Given the description of an element on the screen output the (x, y) to click on. 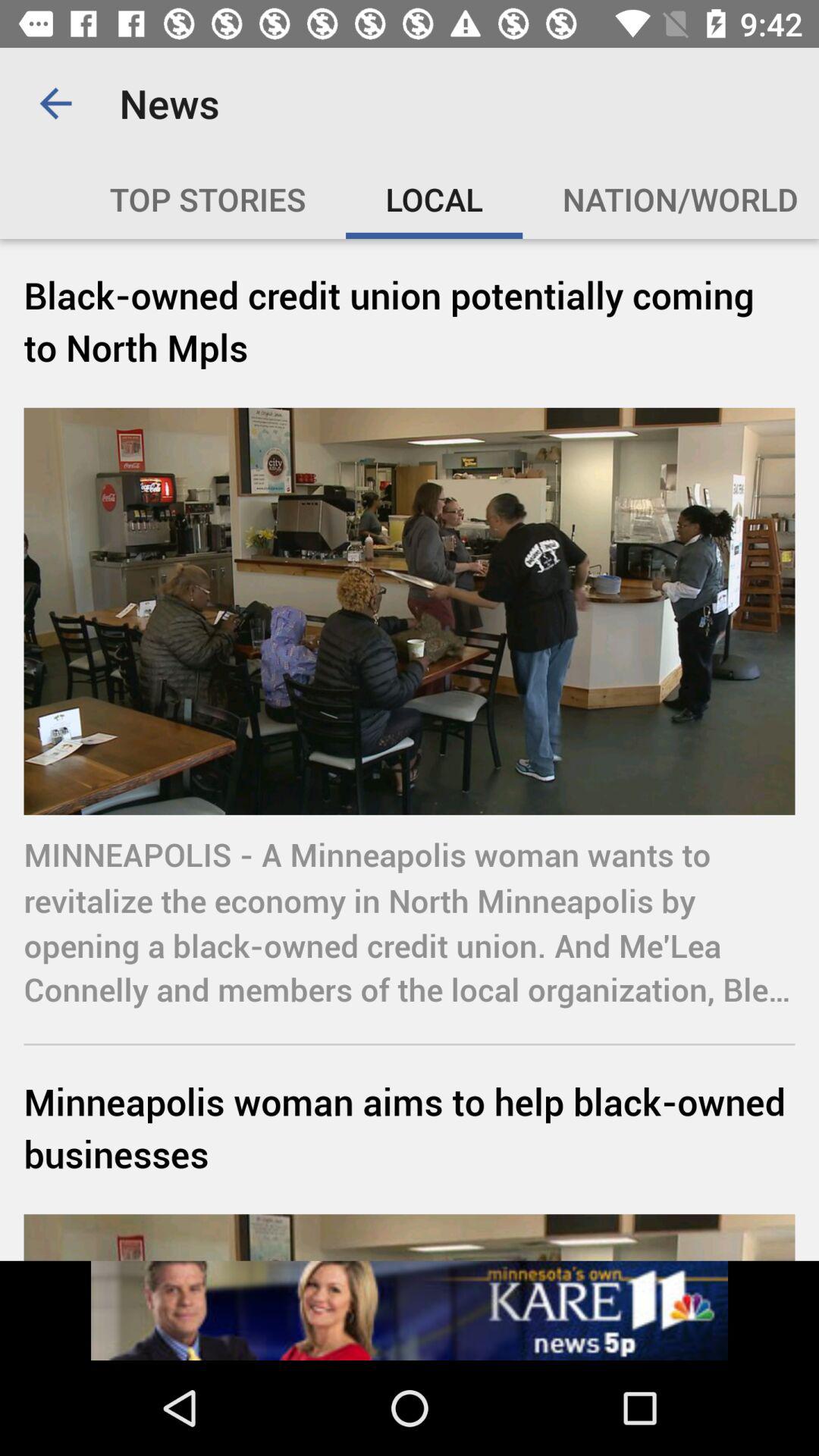
open advertisement (409, 1310)
